Given the description of an element on the screen output the (x, y) to click on. 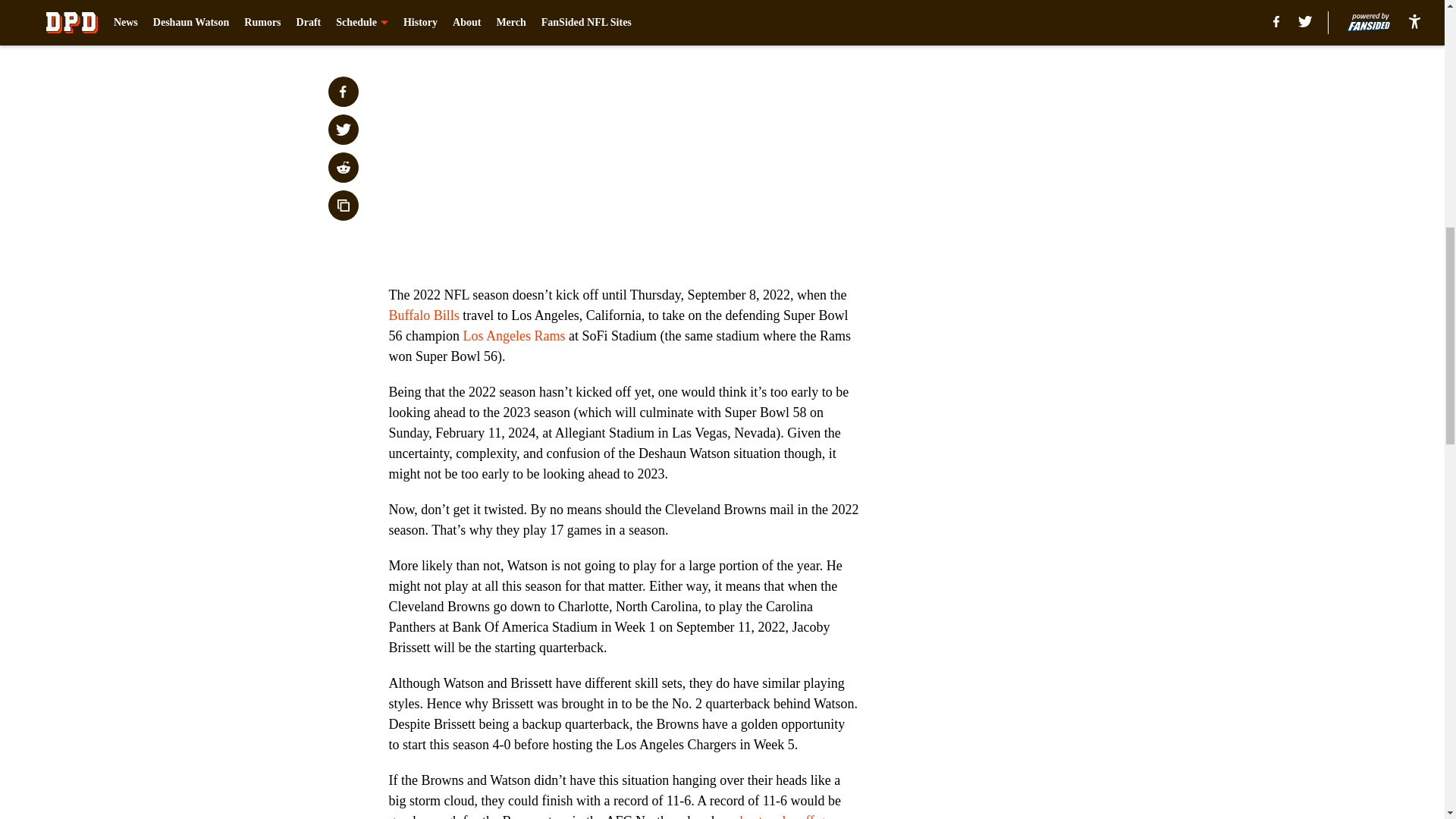
Los Angeles Rams (513, 335)
Buffalo Bills (423, 314)
